Given the description of an element on the screen output the (x, y) to click on. 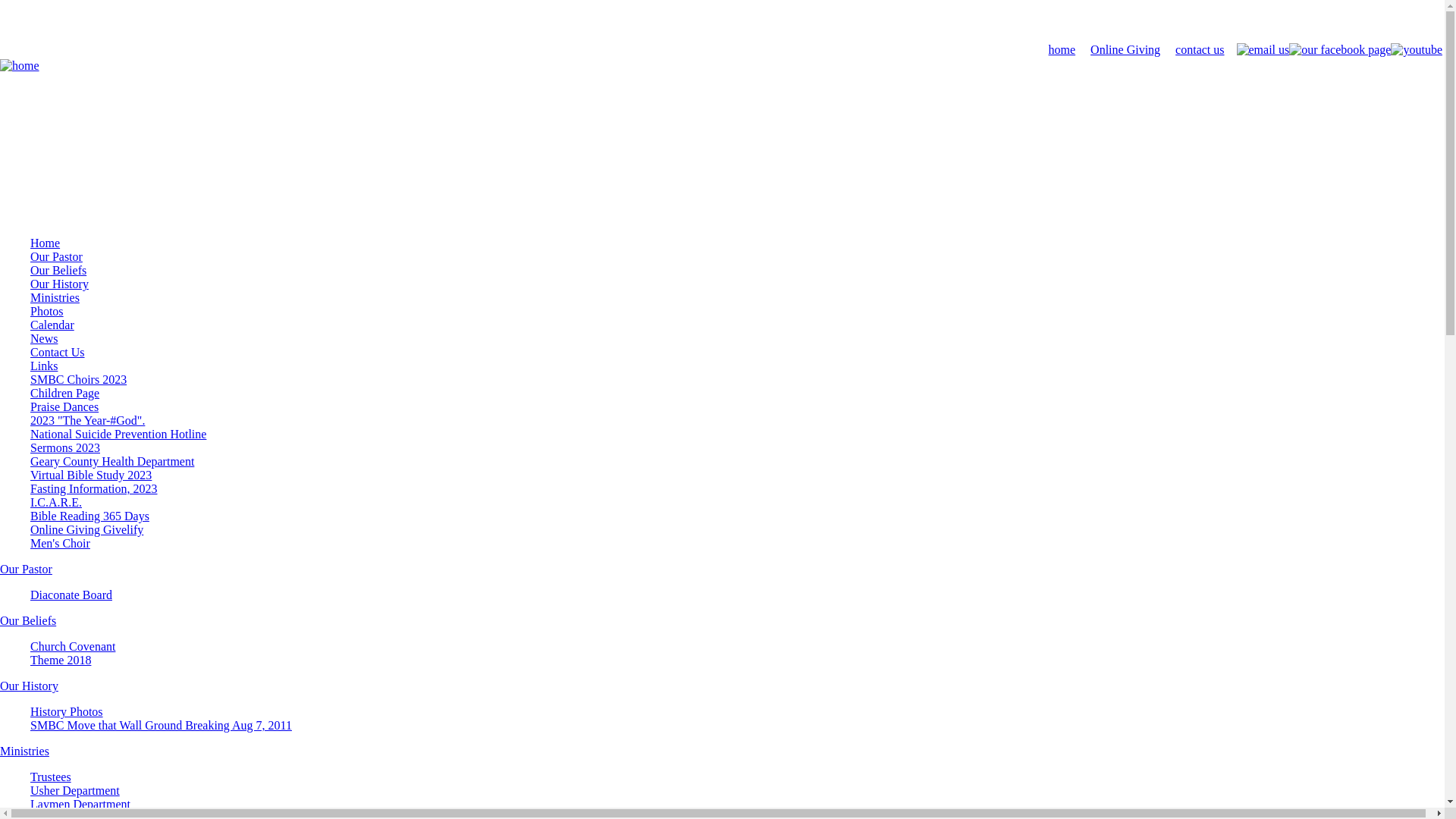
Fasting Information, 2023 Element type: text (93, 488)
Our Beliefs Element type: text (58, 269)
History Photos Element type: text (66, 711)
Contact Us Element type: text (57, 351)
Laymen Department Element type: text (80, 803)
Virtual Bible Study 2023 Element type: text (90, 474)
SMBC Choirs 2023 Element type: text (78, 379)
Ministries Element type: text (54, 297)
Men's Choir Element type: text (60, 542)
Church Covenant Element type: text (72, 646)
Second Missionary Baptist Church Element type: text (722, 33)
I.C.A.R.E. Element type: text (55, 501)
Trustees Element type: text (50, 776)
Our Pastor Element type: text (26, 568)
Home Element type: text (44, 242)
Online Giving Element type: text (1125, 49)
Calendar Element type: text (52, 324)
Diaconate Board Element type: text (71, 594)
Bible Reading 365 Days Element type: text (89, 515)
Ministries Element type: text (24, 750)
News Element type: text (43, 338)
Photos Element type: text (46, 310)
# Element type: text (722, 20)
Usher Department Element type: text (74, 790)
Our History Element type: text (59, 283)
Our Beliefs Element type: text (28, 620)
contact us Element type: text (1199, 49)
National Suicide Prevention Hotline Element type: text (118, 433)
Praise Dances Element type: text (64, 406)
home Element type: text (1062, 49)
Sermons 2023 Element type: text (65, 447)
Theme 2018 Element type: text (60, 659)
Our History Element type: text (29, 685)
Children Page Element type: text (64, 392)
Geary County Health Department Element type: text (112, 461)
Links Element type: text (43, 365)
Our Pastor Element type: text (56, 256)
2023 "The Year-#God". Element type: text (87, 420)
SMBC Move that Wall Ground Breaking Aug 7, 2011 Element type: text (160, 724)
Online Giving Givelify Element type: text (86, 529)
